Given the description of an element on the screen output the (x, y) to click on. 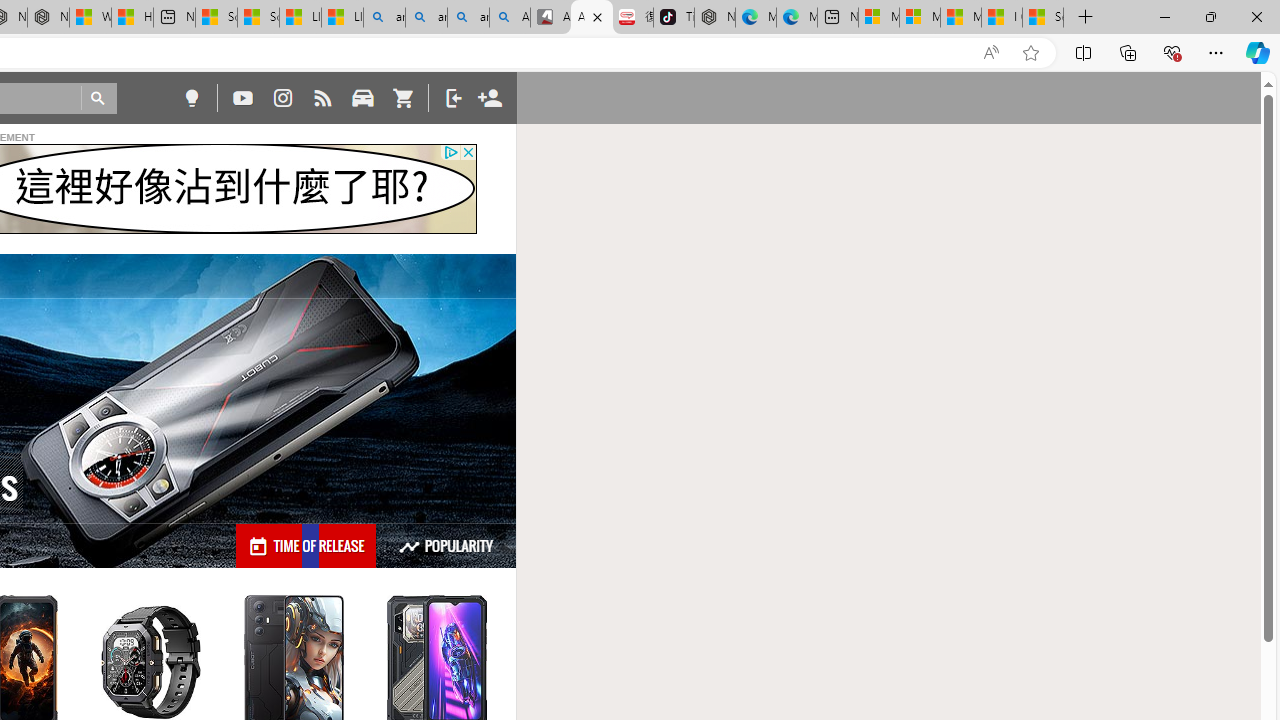
amazon - Search (425, 17)
Nordace - Best Sellers (714, 17)
Go (98, 97)
AutomationID: close_button_svg (468, 151)
Class: privacy_out (450, 151)
amazon - Search Images (468, 17)
All Cubot phones (591, 17)
